Given the description of an element on the screen output the (x, y) to click on. 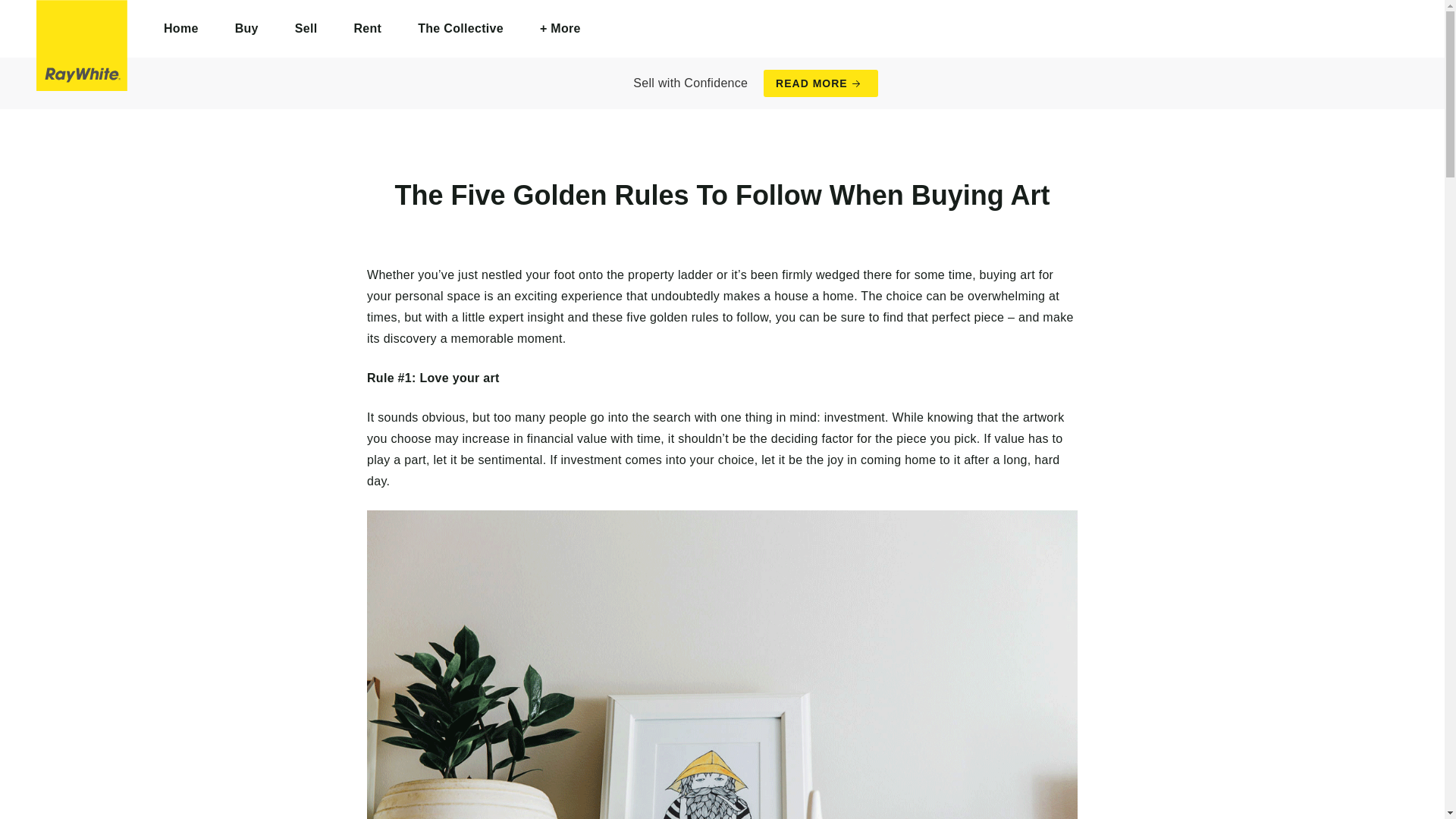
Rent (366, 28)
Ray White Bulimba (82, 45)
Home (180, 28)
READ MORE (819, 83)
The Collective (459, 28)
